Given the description of an element on the screen output the (x, y) to click on. 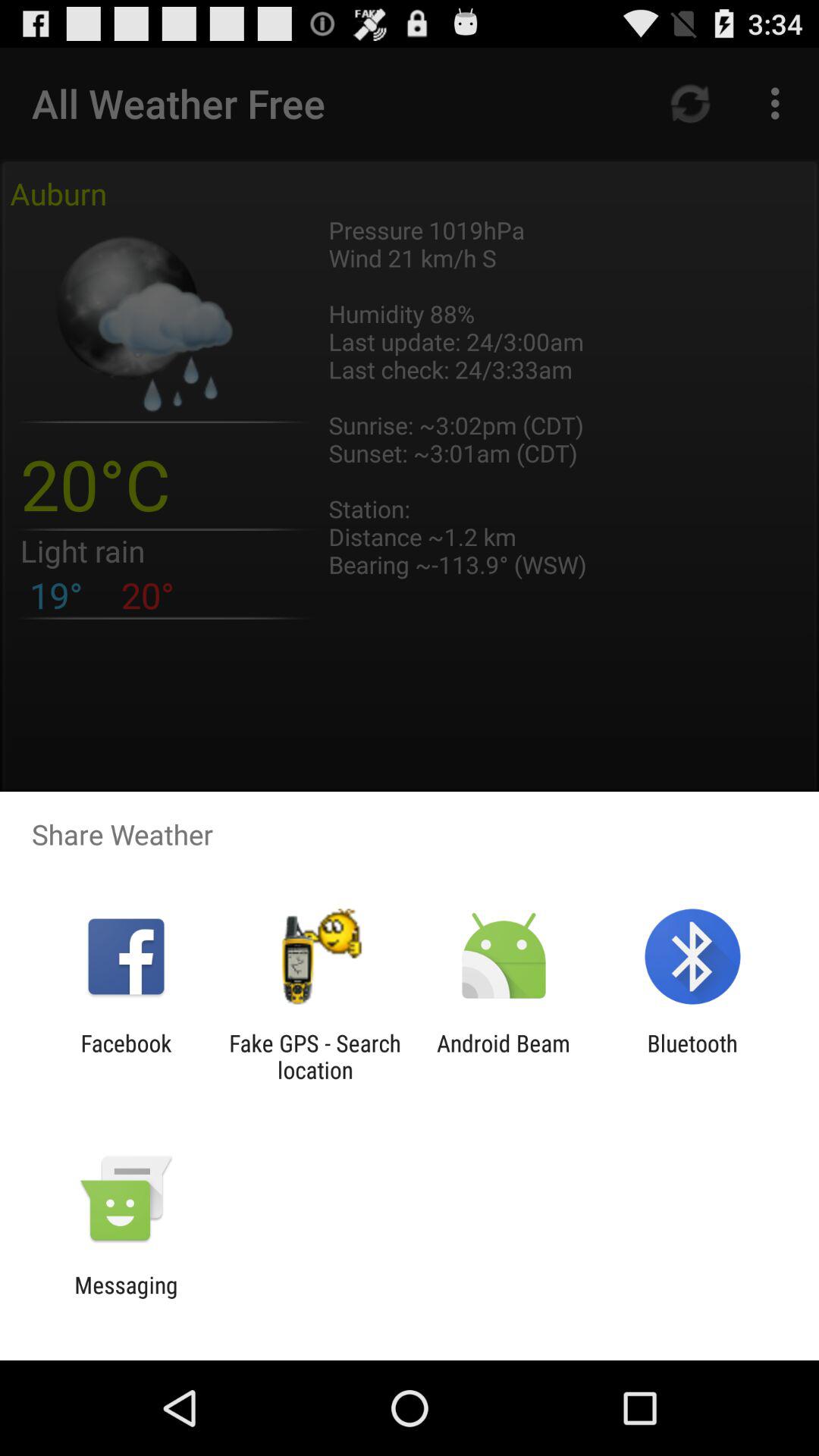
click android beam (503, 1056)
